Given the description of an element on the screen output the (x, y) to click on. 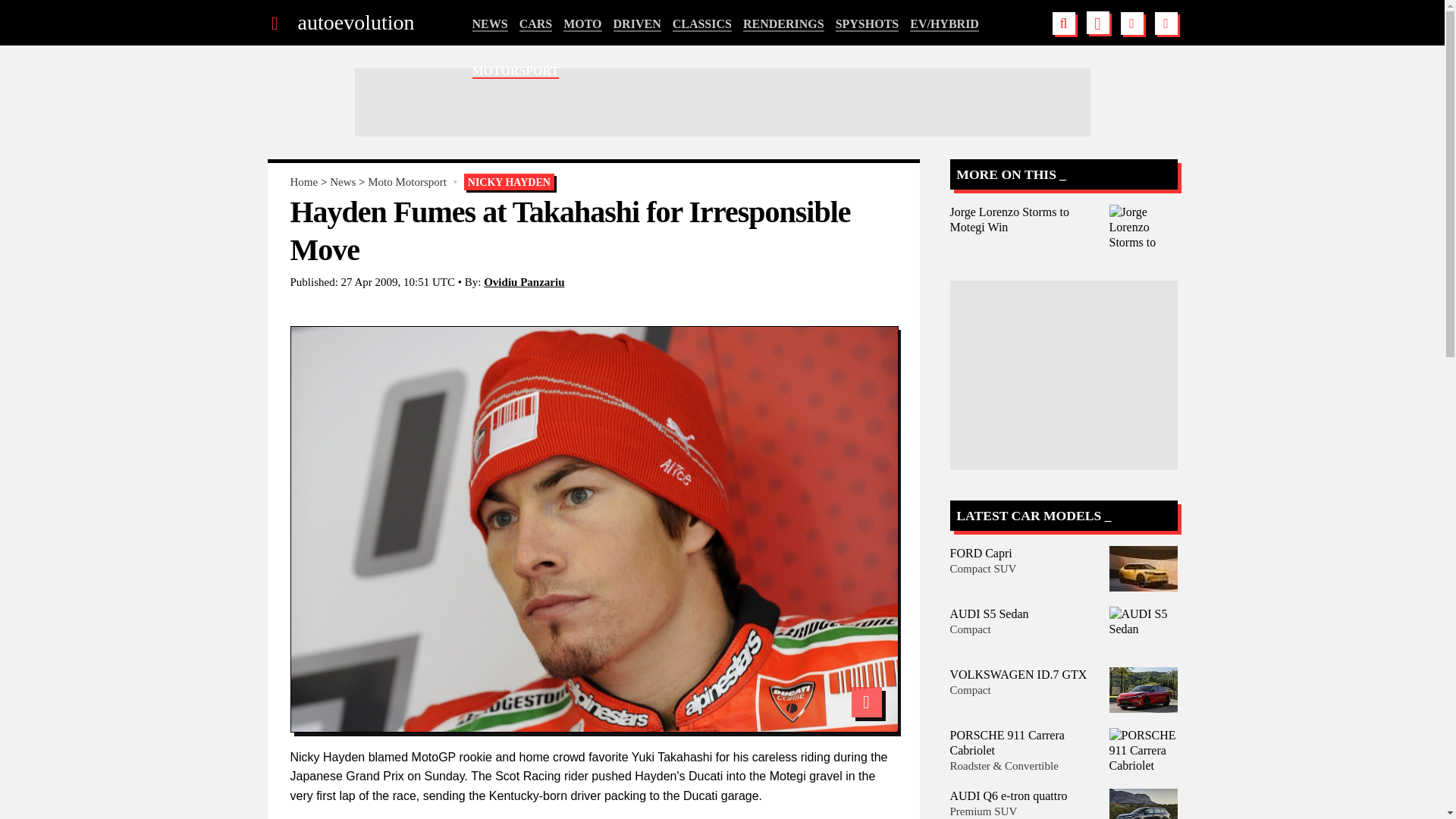
CARS (536, 24)
autoevolution (355, 22)
Home (303, 182)
NEWS (488, 24)
RENDERINGS (783, 24)
MOTORSPORT (515, 71)
DRIVEN (636, 24)
Moto Motorsport (407, 182)
CLASSICS (702, 24)
autoevolution (355, 22)
